Given the description of an element on the screen output the (x, y) to click on. 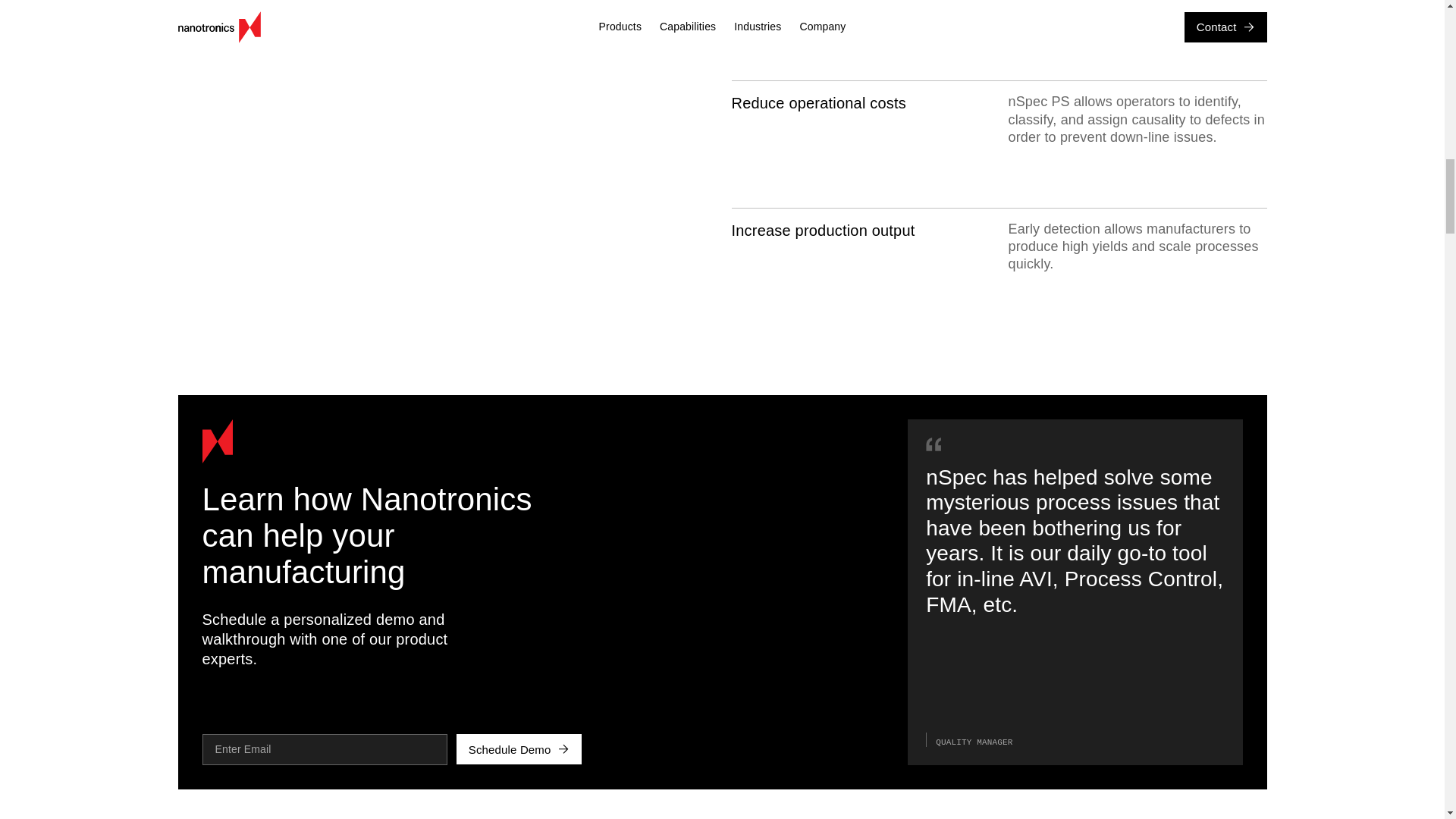
Schedule Demo (518, 748)
